Given the description of an element on the screen output the (x, y) to click on. 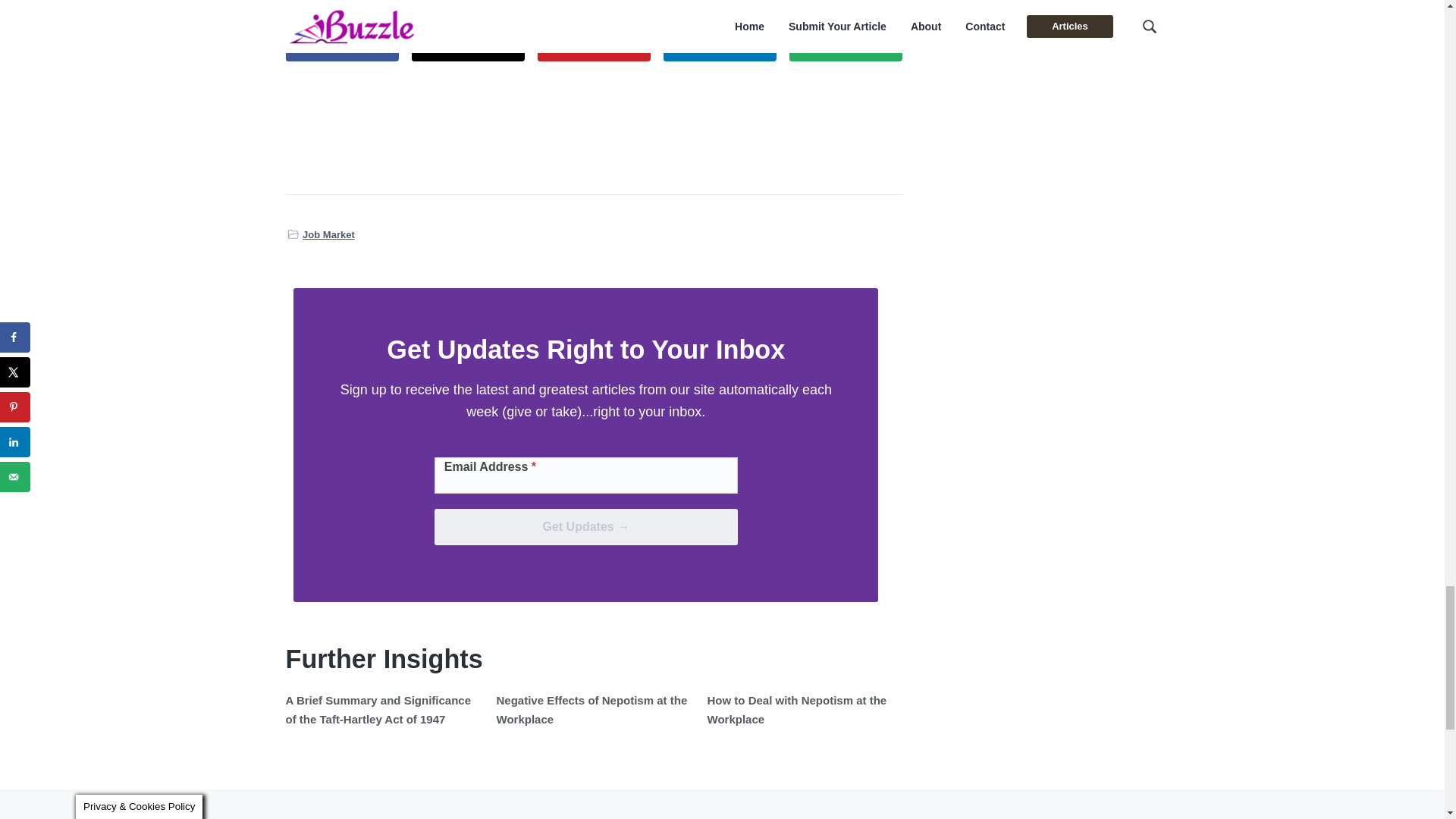
Permanent Link to How to Deal with Nepotism at the Workplace (796, 708)
Tweet (468, 46)
Pin (593, 46)
Email (845, 46)
Share on Facebook (341, 46)
Send over email (845, 46)
Save to Pinterest (593, 46)
Share (341, 46)
Share on X (468, 46)
LinkedIn (720, 46)
Job Market (328, 234)
Share on LinkedIn (720, 46)
